Given the description of an element on the screen output the (x, y) to click on. 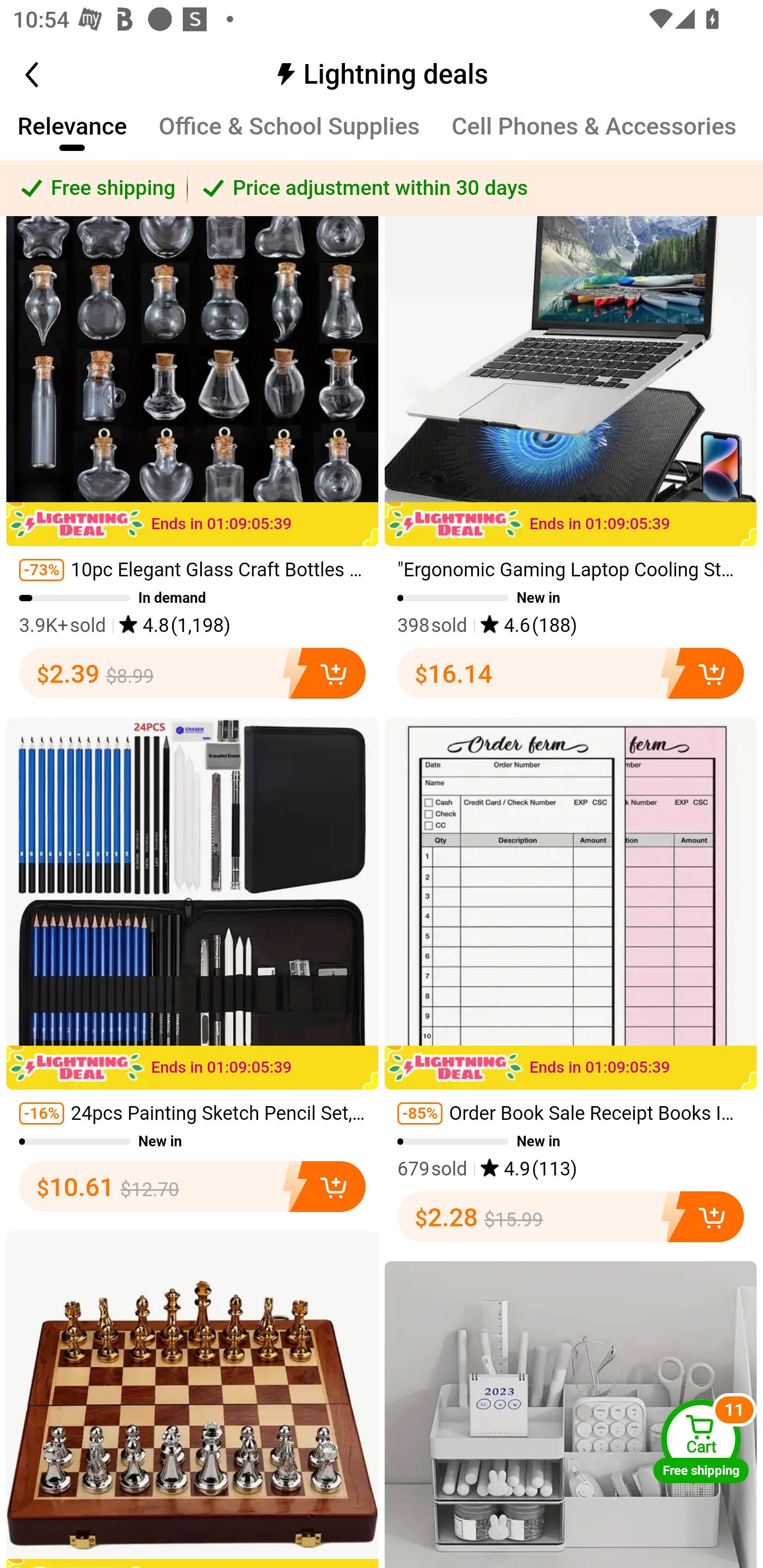
Back (50, 75)
Relevance (72, 135)
Office & School Supplies (289, 135)
Cell Phones & Accessories (594, 135)
Free shipping (94, 188)
Price adjustment within 30 days (475, 188)
$2.39 $8.99 (192, 674)
$16.14 (570, 674)
$10.61 $12.70 (192, 1186)
$2.28 $15.99 (570, 1217)
Cart Free shipping Cart (701, 1440)
